Given the description of an element on the screen output the (x, y) to click on. 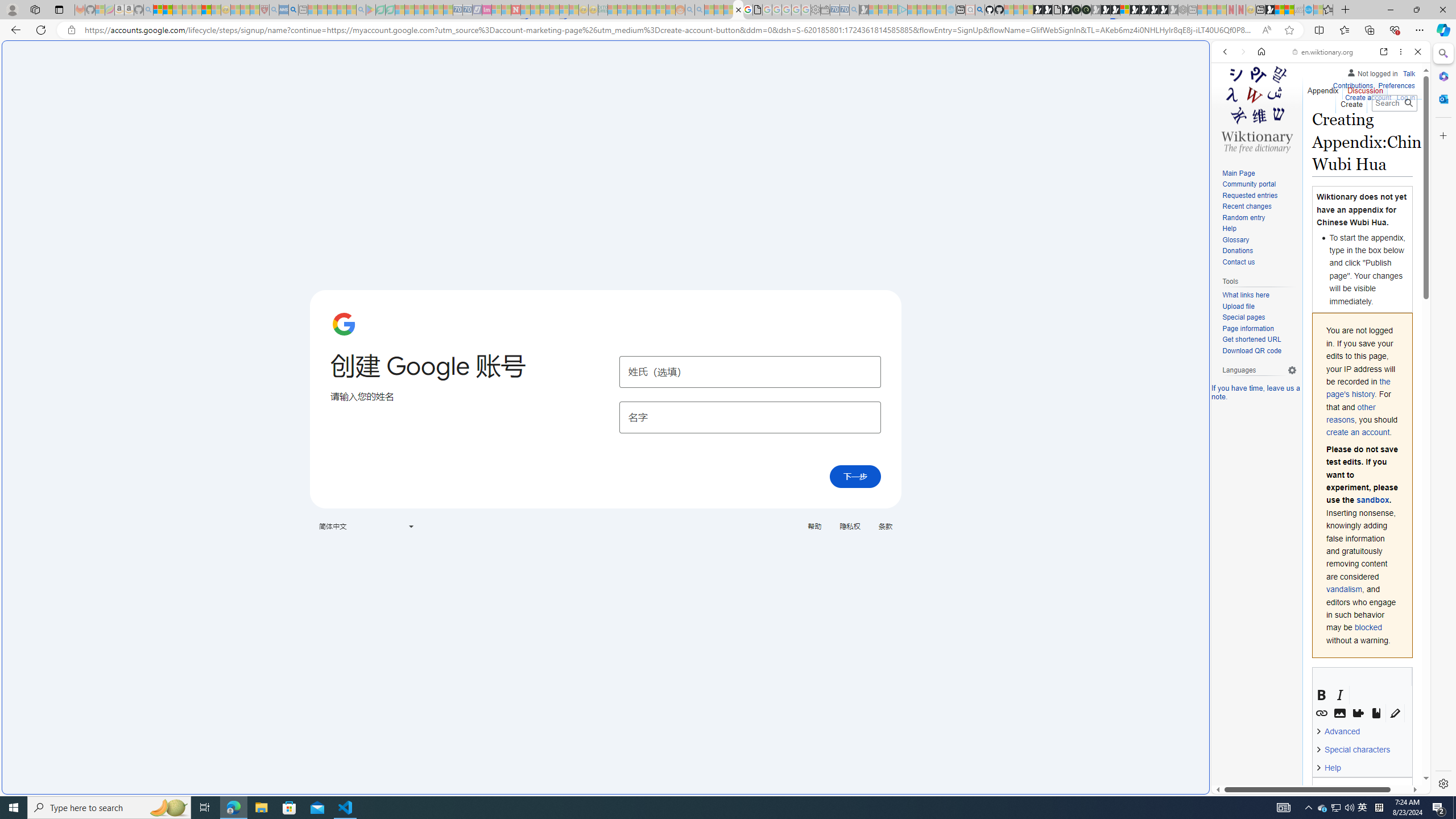
Requested entries (1259, 196)
the page's history (1358, 387)
Contributions (1352, 85)
create an account (1358, 432)
